Given the description of an element on the screen output the (x, y) to click on. 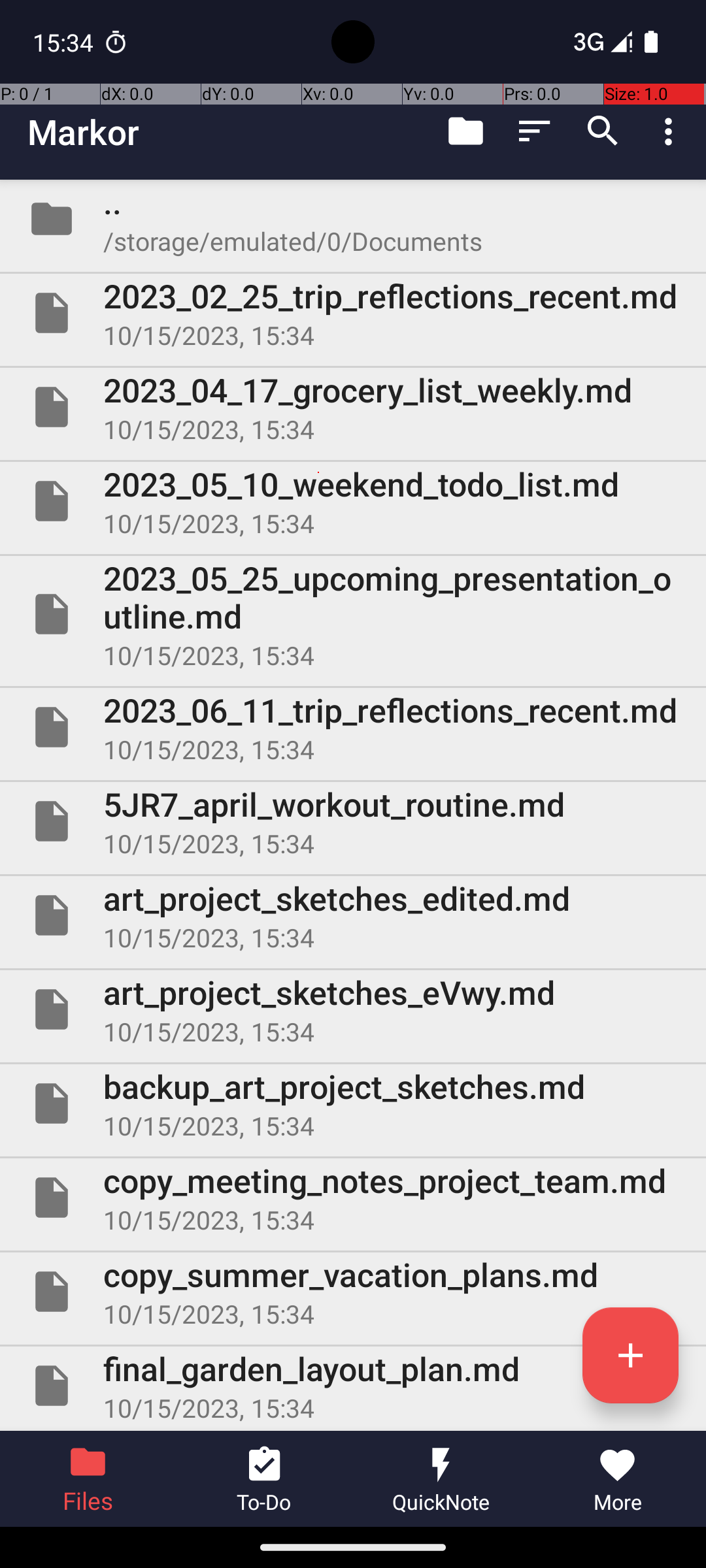
File 2023_02_25_trip_reflections_recent.md  Element type: android.widget.LinearLayout (353, 312)
File 2023_04_17_grocery_list_weekly.md  Element type: android.widget.LinearLayout (353, 406)
File 2023_05_10_weekend_todo_list.md  Element type: android.widget.LinearLayout (353, 500)
File 2023_05_25_upcoming_presentation_outline.md  Element type: android.widget.LinearLayout (353, 613)
File 2023_06_11_trip_reflections_recent.md  Element type: android.widget.LinearLayout (353, 726)
File 5JR7_april_workout_routine.md  Element type: android.widget.LinearLayout (353, 821)
File art_project_sketches_edited.md  Element type: android.widget.LinearLayout (353, 915)
File art_project_sketches_eVwy.md  Element type: android.widget.LinearLayout (353, 1009)
File backup_art_project_sketches.md  Element type: android.widget.LinearLayout (353, 1103)
File copy_meeting_notes_project_team.md  Element type: android.widget.LinearLayout (353, 1197)
File copy_summer_vacation_plans.md  Element type: android.widget.LinearLayout (353, 1291)
File final_garden_layout_plan.md  Element type: android.widget.LinearLayout (353, 1385)
